Given the description of an element on the screen output the (x, y) to click on. 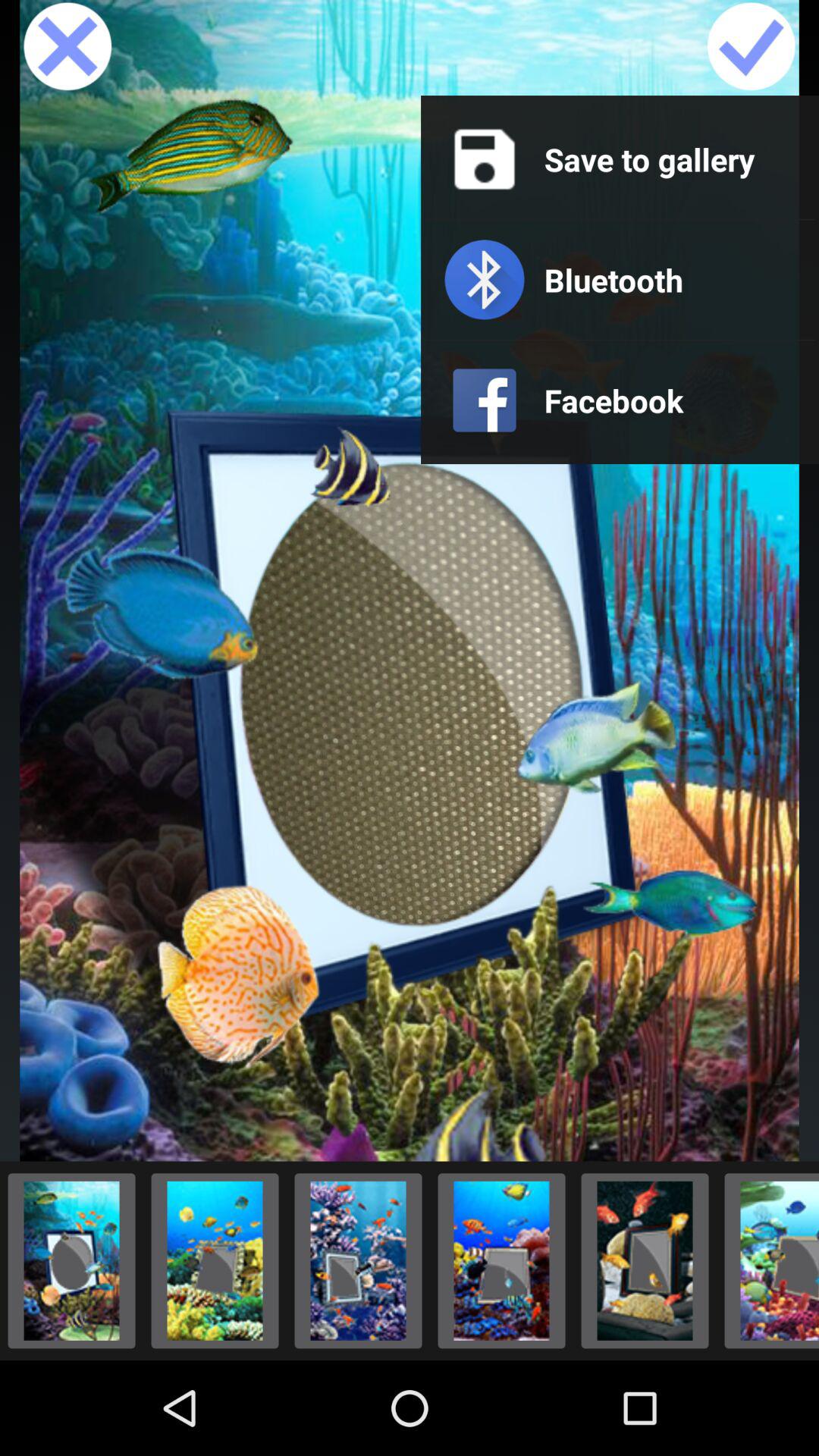
changes picture (357, 1260)
